Given the description of an element on the screen output the (x, y) to click on. 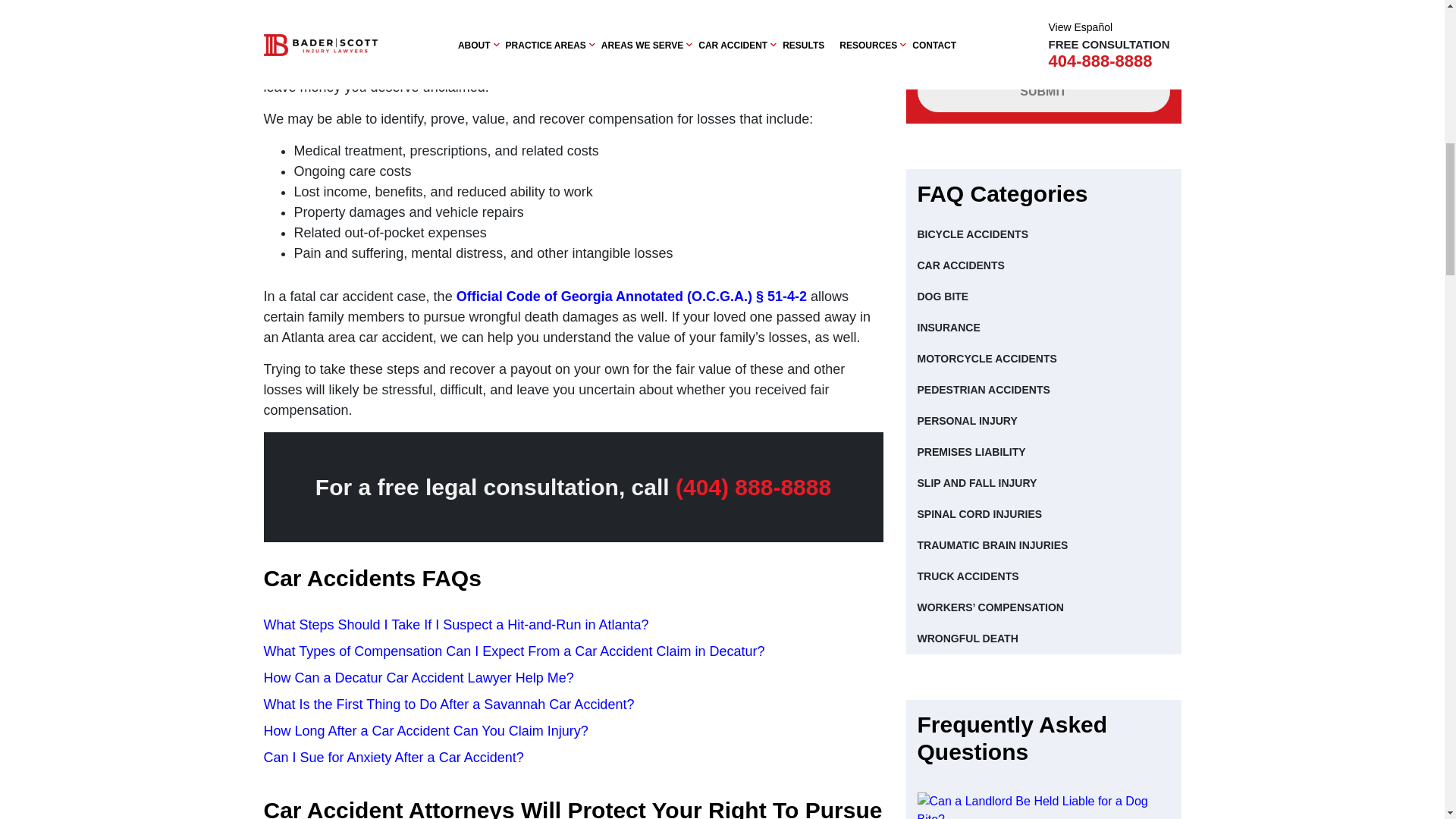
Can a Landlord Be Held Liable for a Dog Bite? (1043, 805)
Submit (1043, 91)
Can a Landlord Be Held Liable for a Dog Bite? (1043, 805)
